Given the description of an element on the screen output the (x, y) to click on. 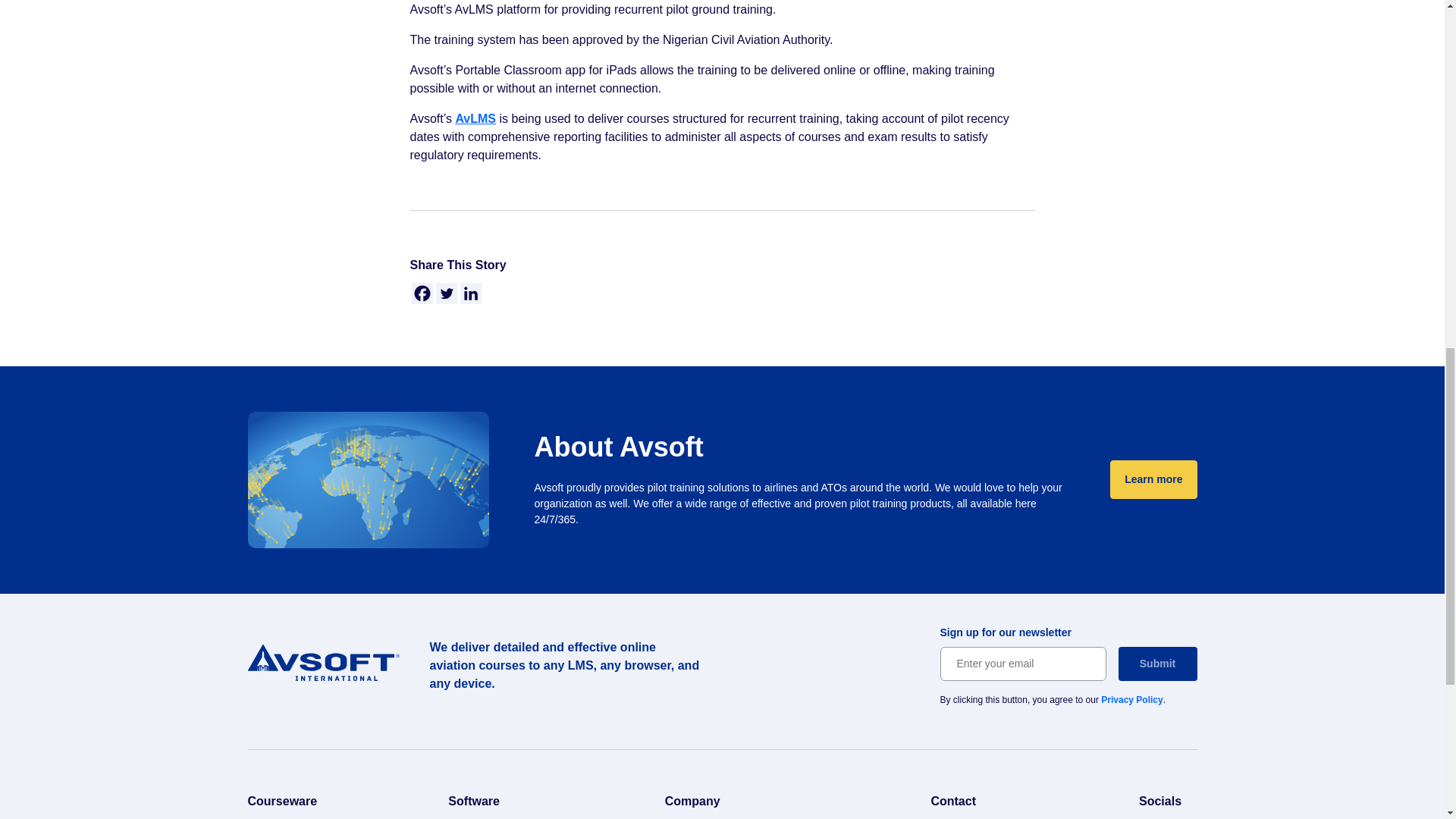
Submit (1157, 663)
Twitter (446, 292)
AvLMS (475, 118)
Facebook (421, 292)
Linkedin (470, 292)
